Given the description of an element on the screen output the (x, y) to click on. 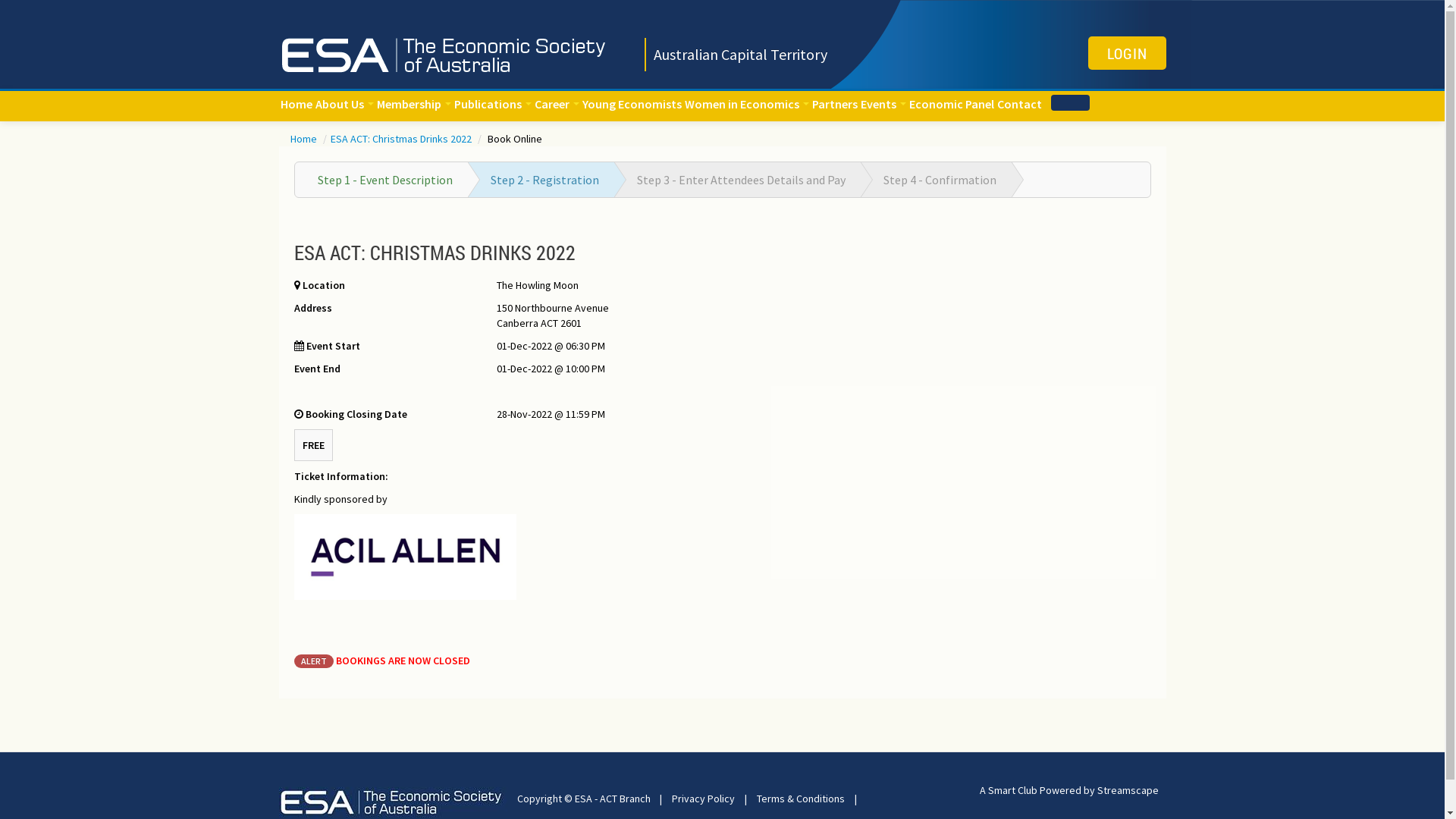
Home Element type: text (303, 138)
About Us Element type: text (344, 103)
Membership Element type: text (412, 103)
Privacy Policy Element type: text (702, 798)
Economic Panel Element type: text (950, 103)
Publications Element type: text (491, 103)
Career Element type: text (556, 103)
A Smart Club Powered by Streamscape Element type: text (1068, 789)
Step 4 - Confirmation Element type: text (938, 179)
Step 1 - Event Description Element type: text (383, 179)
Home Element type: text (296, 103)
ESA ACT: Christmas Drinks 2022 Element type: text (401, 138)
Step 2 - Registration Element type: text (543, 179)
Women in Economics Element type: text (745, 103)
Young Economists Element type: text (631, 103)
Partners Element type: text (833, 103)
Terms & Conditions Element type: text (800, 798)
Step 3 - Enter Attendees Details and Pay Element type: text (741, 179)
LOGIN Element type: text (1126, 52)
Contact Element type: text (1018, 103)
Events Element type: text (882, 103)
